Given the description of an element on the screen output the (x, y) to click on. 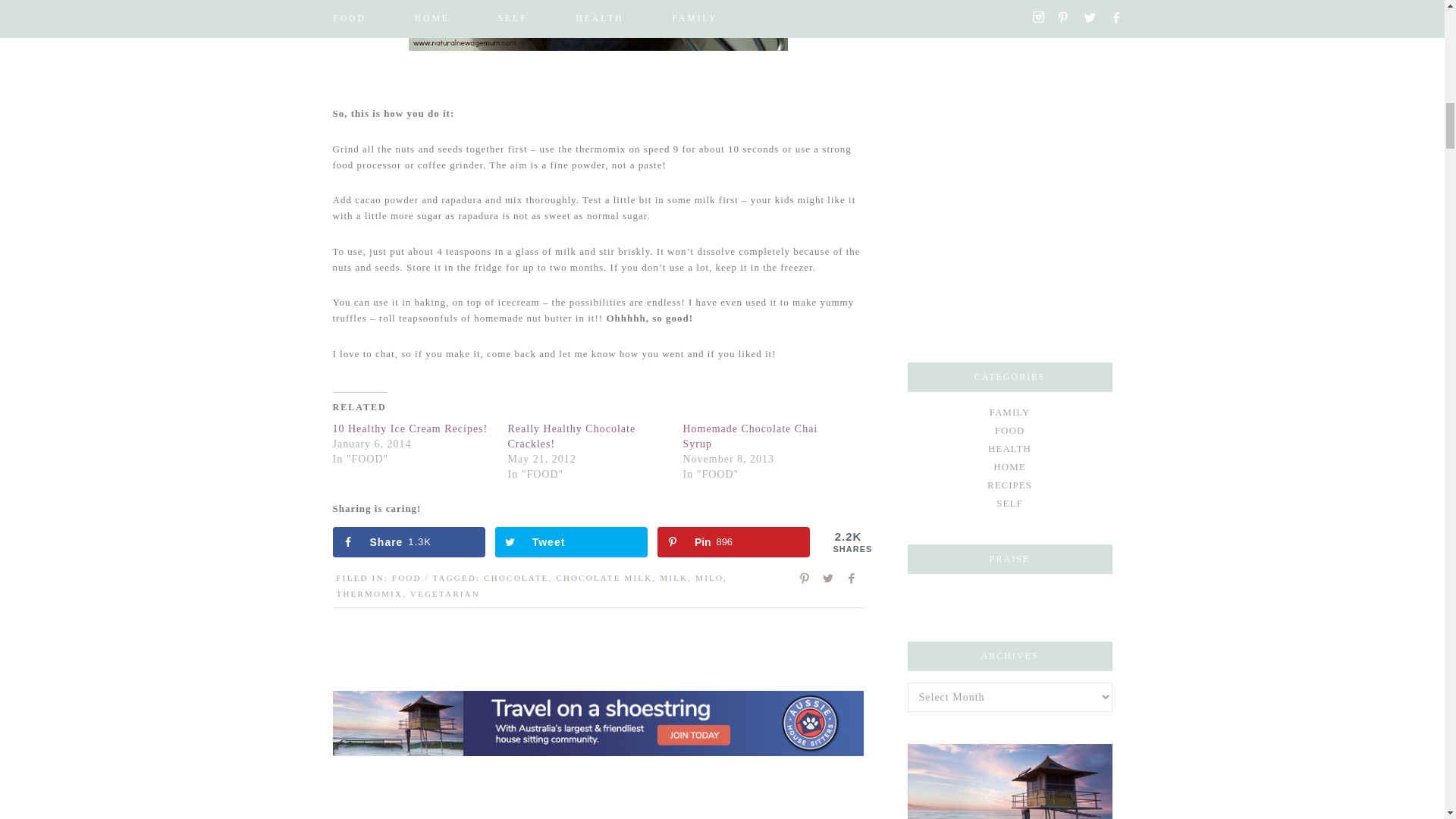
Share on Twitter (571, 542)
CHOCOLATE (515, 577)
Homemade Chocolate Chai Syrup (749, 436)
Really Healthy Chocolate Crackles! (572, 436)
FOOD (406, 577)
Really Healthy Chocolate Crackles! (572, 436)
MILO (709, 577)
THERMOMIX (369, 593)
Share on Facebook (734, 542)
10 Healthy Ice Cream Recipes! (407, 542)
Save to Pinterest (409, 428)
CHOCOLATE MILK (734, 542)
MILK (407, 542)
